Given the description of an element on the screen output the (x, y) to click on. 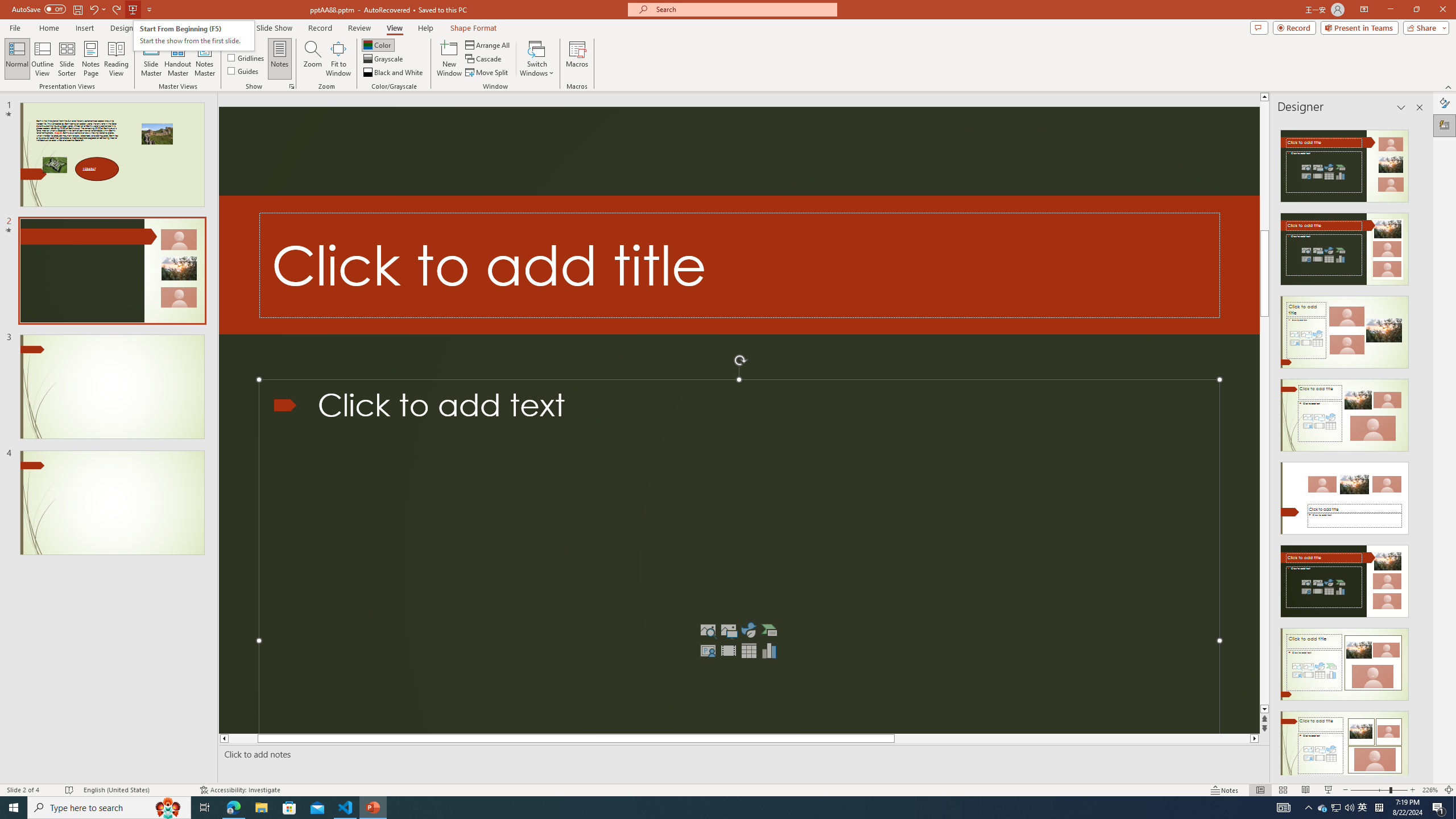
Handout Master (177, 58)
New Window (449, 58)
Move Split (487, 72)
